Given the description of an element on the screen output the (x, y) to click on. 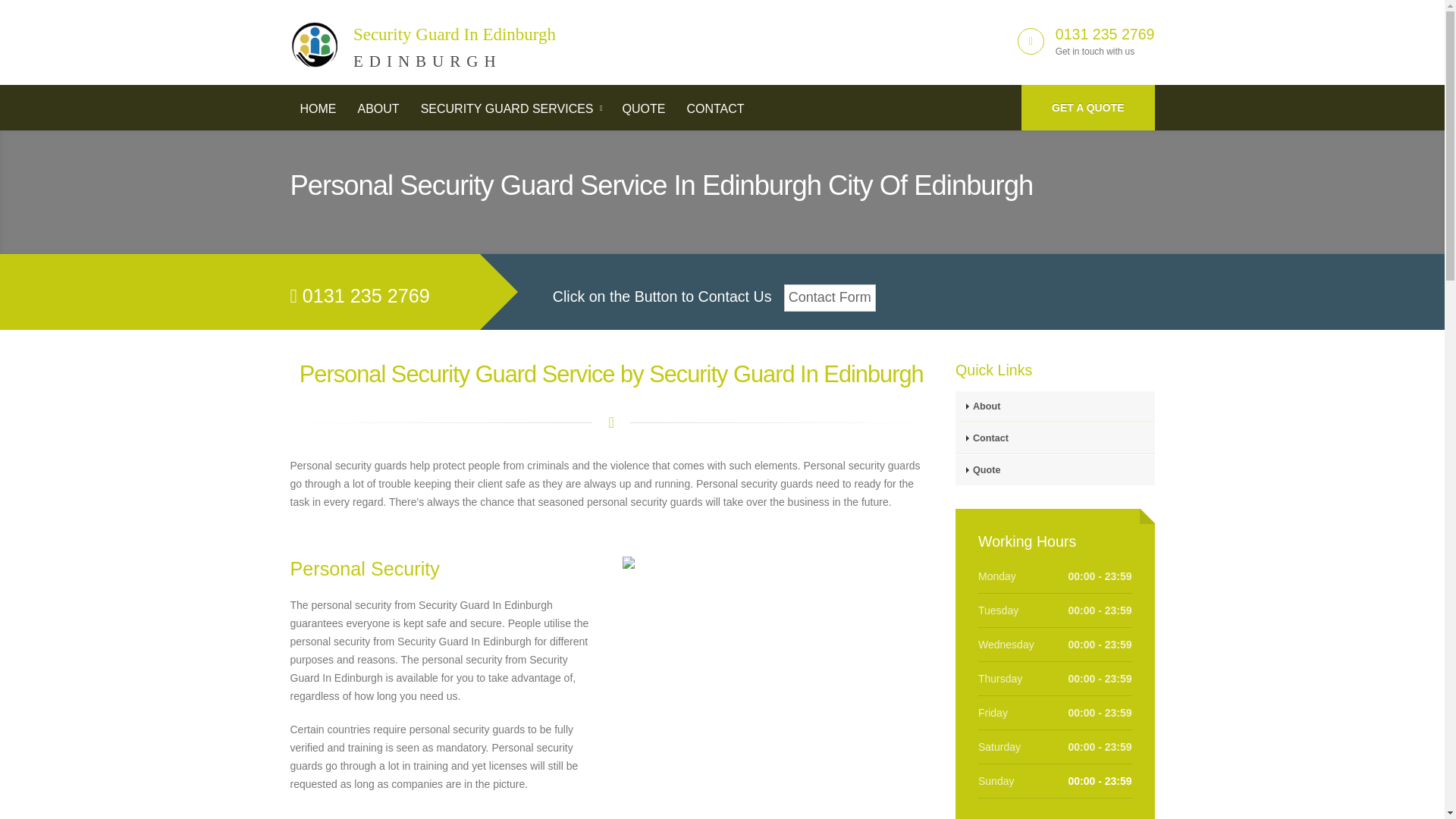
CONTACT (715, 109)
Contact Form (830, 298)
QUOTE (643, 109)
ABOUT (422, 38)
0131 235 2769 (378, 109)
GET A QUOTE (1104, 33)
HOME (1088, 107)
SECURITY GUARD SERVICES (317, 109)
